Given the description of an element on the screen output the (x, y) to click on. 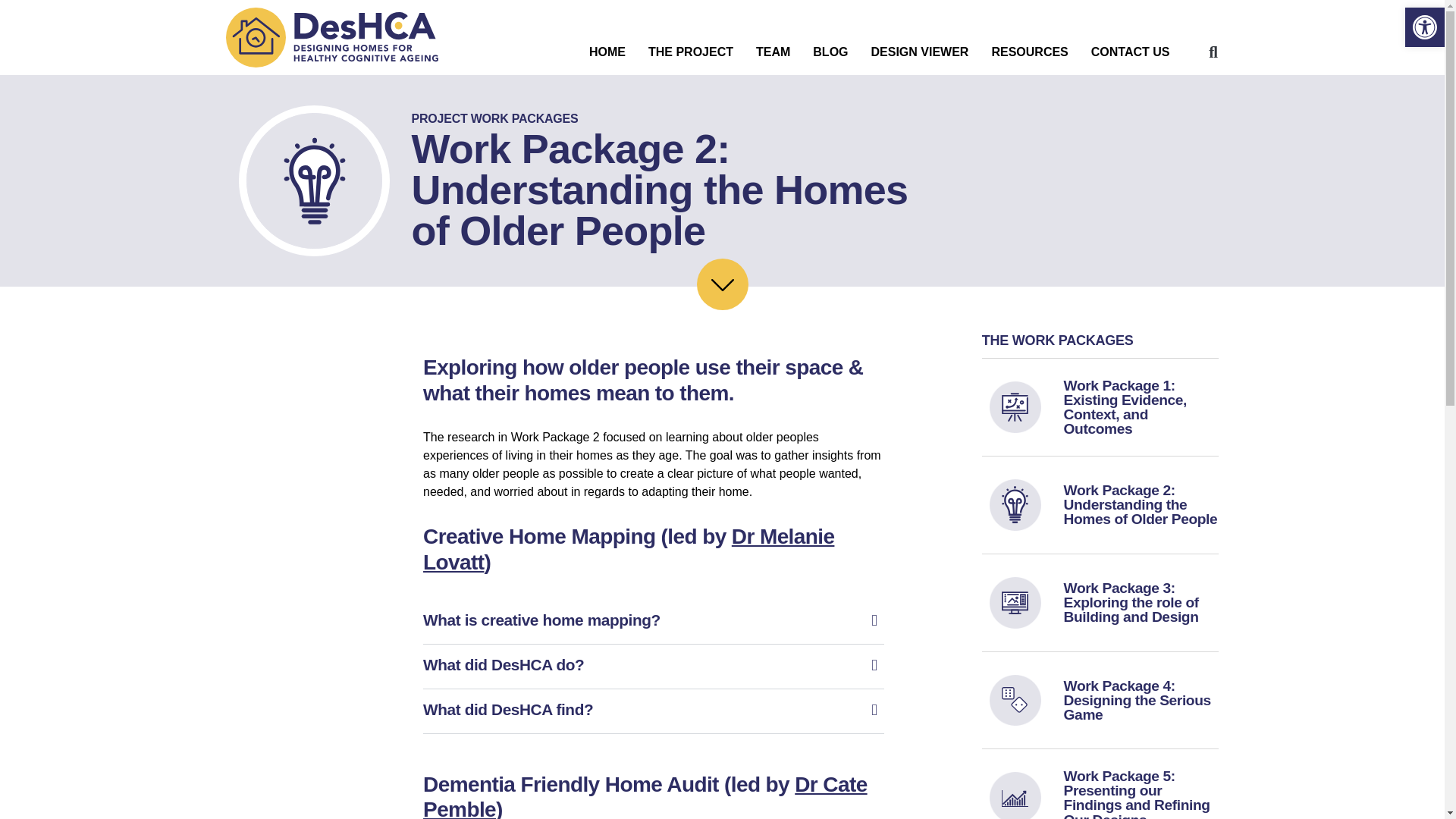
TEAM (772, 52)
DESIGN VIEWER (919, 52)
Accessibility Tools (1424, 27)
Submit (754, 425)
RESOURCES (1029, 52)
HOME (607, 52)
CONTACT US (1130, 52)
BLOG (829, 52)
THE PROJECT (690, 52)
